Given the description of an element on the screen output the (x, y) to click on. 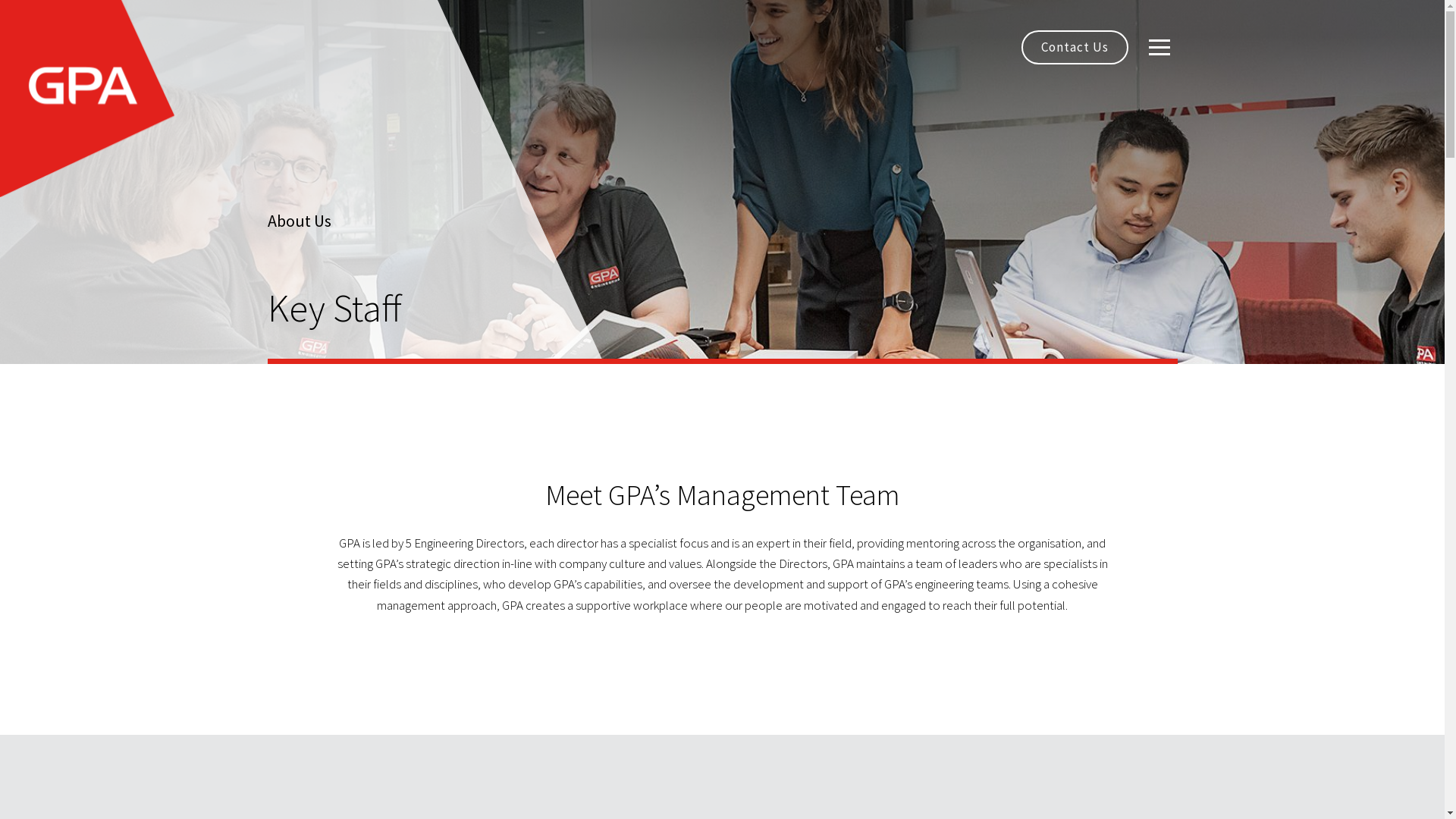
Contact Us Element type: text (1073, 47)
